Given the description of an element on the screen output the (x, y) to click on. 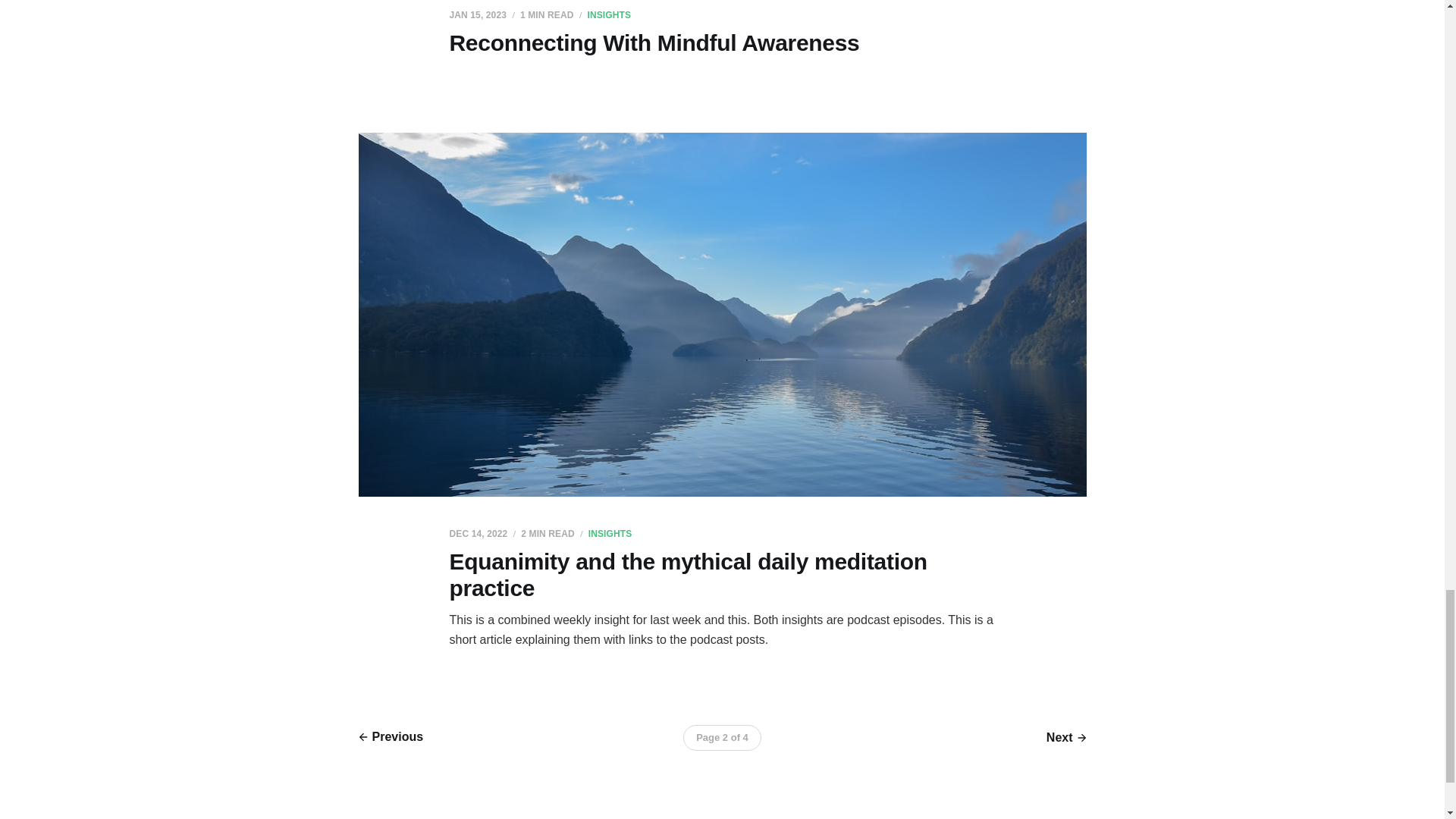
Next (1066, 737)
Previous (390, 736)
Insights (609, 533)
Reconnecting With Mindful Awareness (653, 42)
Insights (608, 14)
INSIGHTS (608, 14)
Equanimity and the mythical daily meditation practice (687, 574)
INSIGHTS (609, 533)
